Given the description of an element on the screen output the (x, y) to click on. 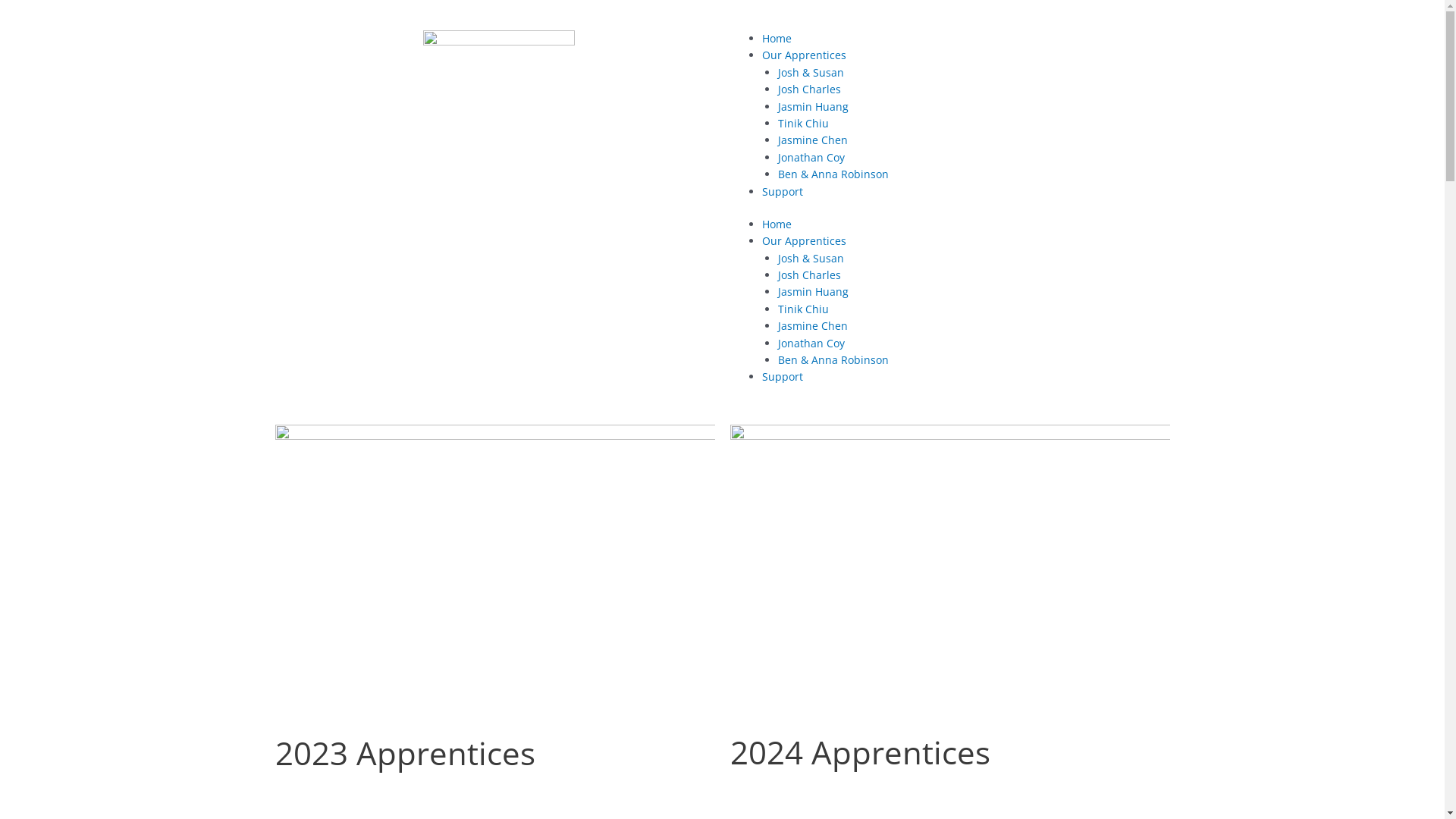
Tinik Chiu Element type: text (803, 123)
Home Element type: text (775, 223)
Ben & Anna Robinson Element type: text (833, 359)
Jasmin Huang Element type: text (813, 291)
Josh & Susan Element type: text (811, 72)
Our Apprentices Element type: text (803, 54)
Josh Charles Element type: text (809, 88)
Jonathan Coy Element type: text (811, 342)
Josh & Susan Element type: text (811, 258)
Ben & Anna Robinson Element type: text (833, 173)
Tinik Chiu Element type: text (803, 308)
Our Apprentices Element type: text (803, 240)
Home Element type: text (775, 38)
Jasmine Chen Element type: text (812, 139)
Josh Charles Element type: text (809, 274)
Support Element type: text (781, 376)
Jonathan Coy Element type: text (811, 157)
Jasmine Chen Element type: text (812, 325)
Jasmin Huang Element type: text (813, 106)
Support Element type: text (781, 191)
